Given the description of an element on the screen output the (x, y) to click on. 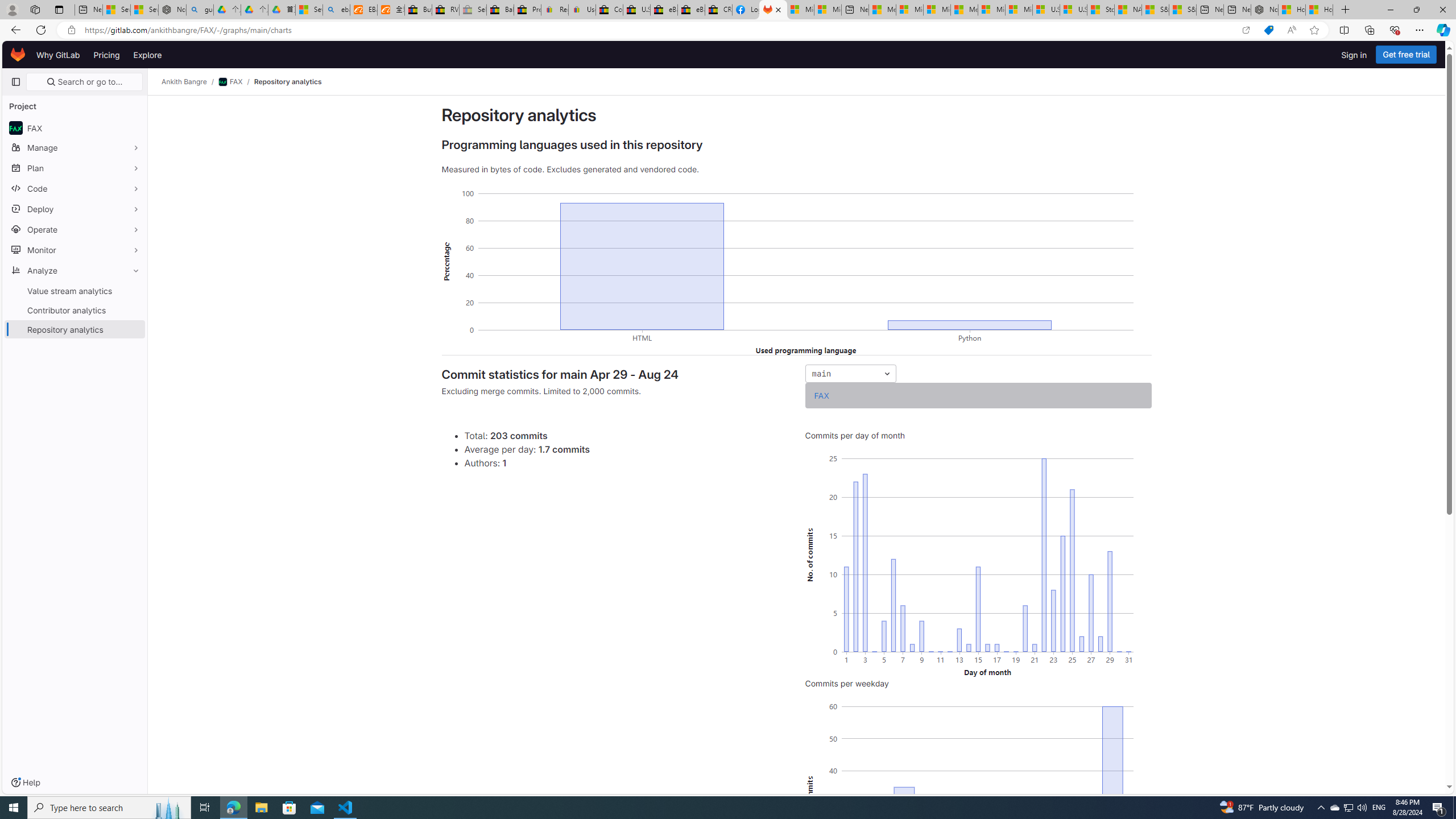
Manage (74, 147)
avatar FAX (74, 127)
Analyze (74, 270)
Homepage (17, 54)
Consumer Health Data Privacy Policy - eBay Inc. (609, 9)
Code (74, 188)
Ankith Bangre (183, 81)
Pricing (106, 54)
